Given the description of an element on the screen output the (x, y) to click on. 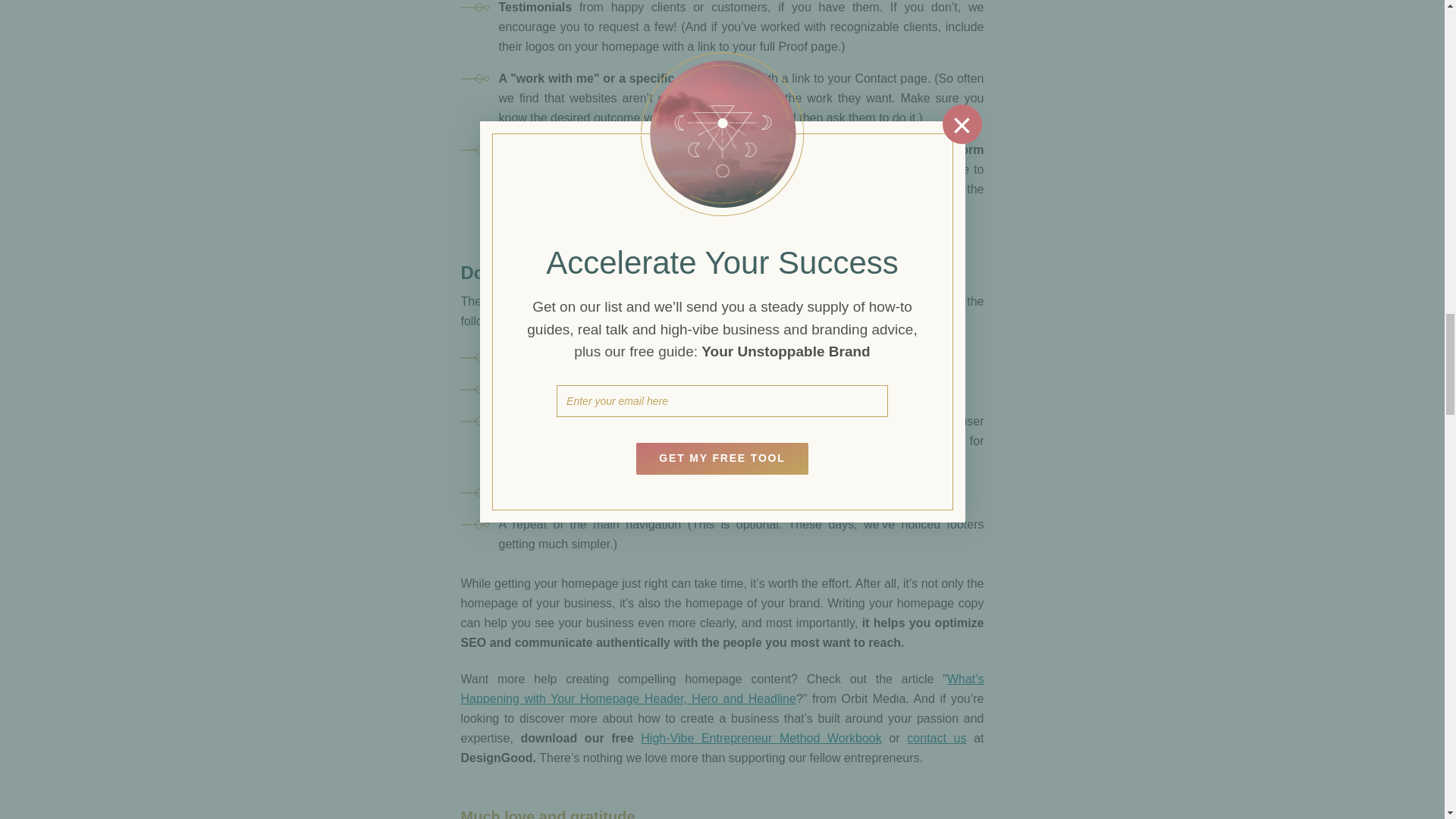
High-Vibe Entrepreneur Method Workbook (760, 738)
contact us (936, 738)
